Given the description of an element on the screen output the (x, y) to click on. 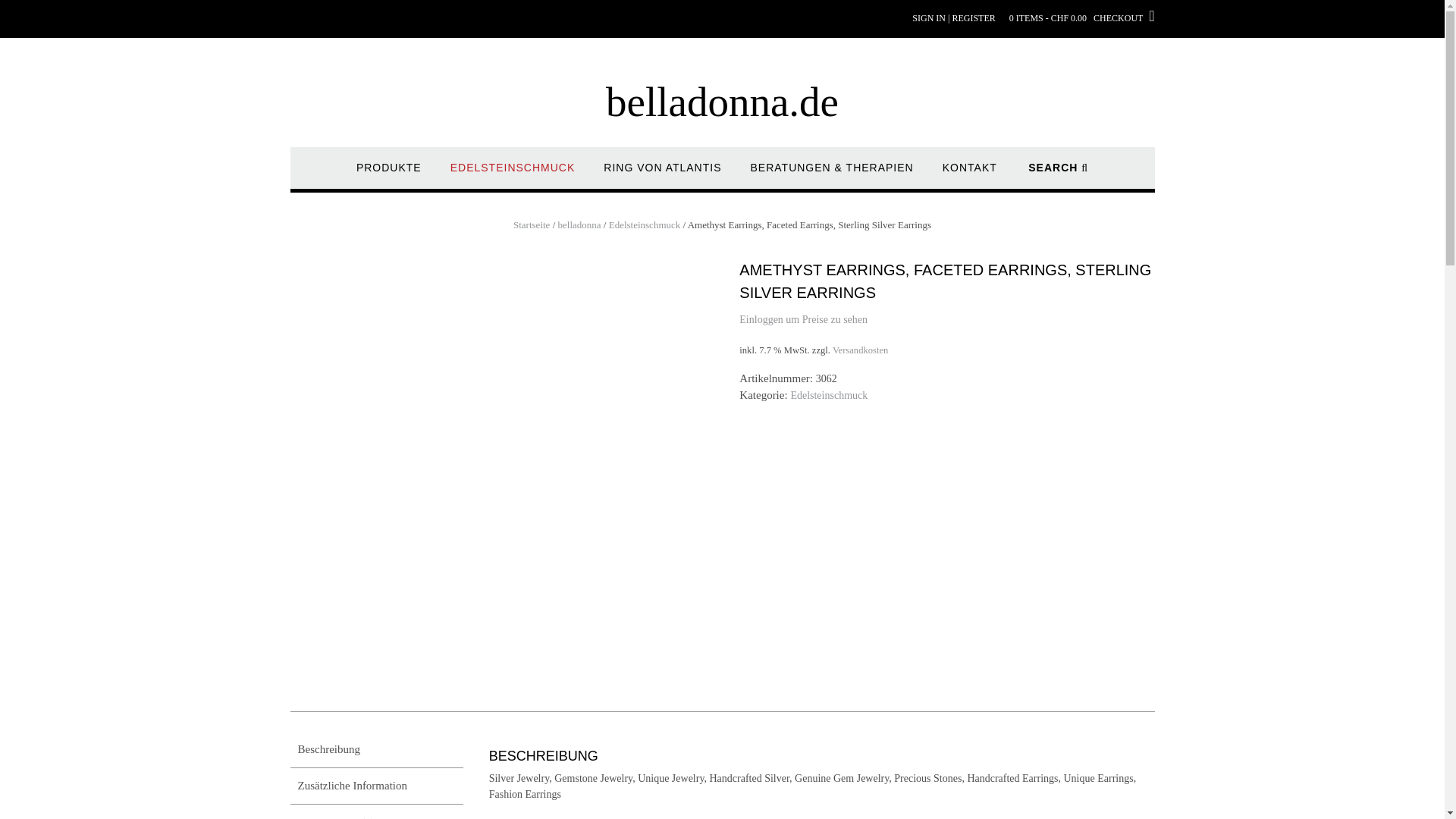
belladonna (579, 224)
Startseite (531, 224)
Einloggen um Preise zu sehen (803, 319)
EDELSTEINSCHMUCK (512, 174)
Versandkosten (860, 349)
Edelsteinschmuck (644, 224)
RING VON ATLANTIS (662, 174)
0 ITEMS - CHF 0.00 CHECKOUT (1081, 11)
belladonna.de (721, 102)
KONTAKT (969, 174)
